Given the description of an element on the screen output the (x, y) to click on. 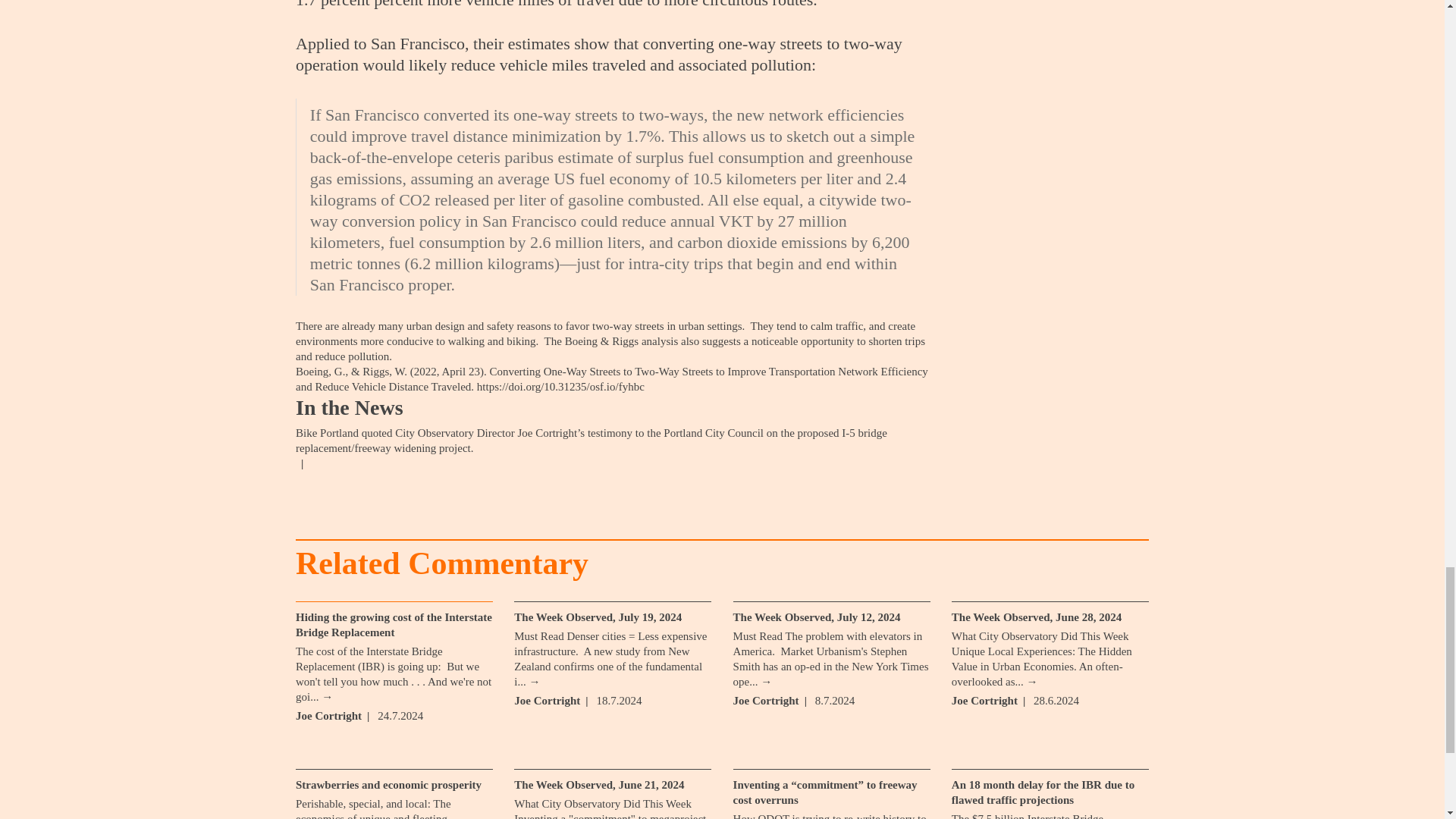
Bike Portland (326, 432)
